Given the description of an element on the screen output the (x, y) to click on. 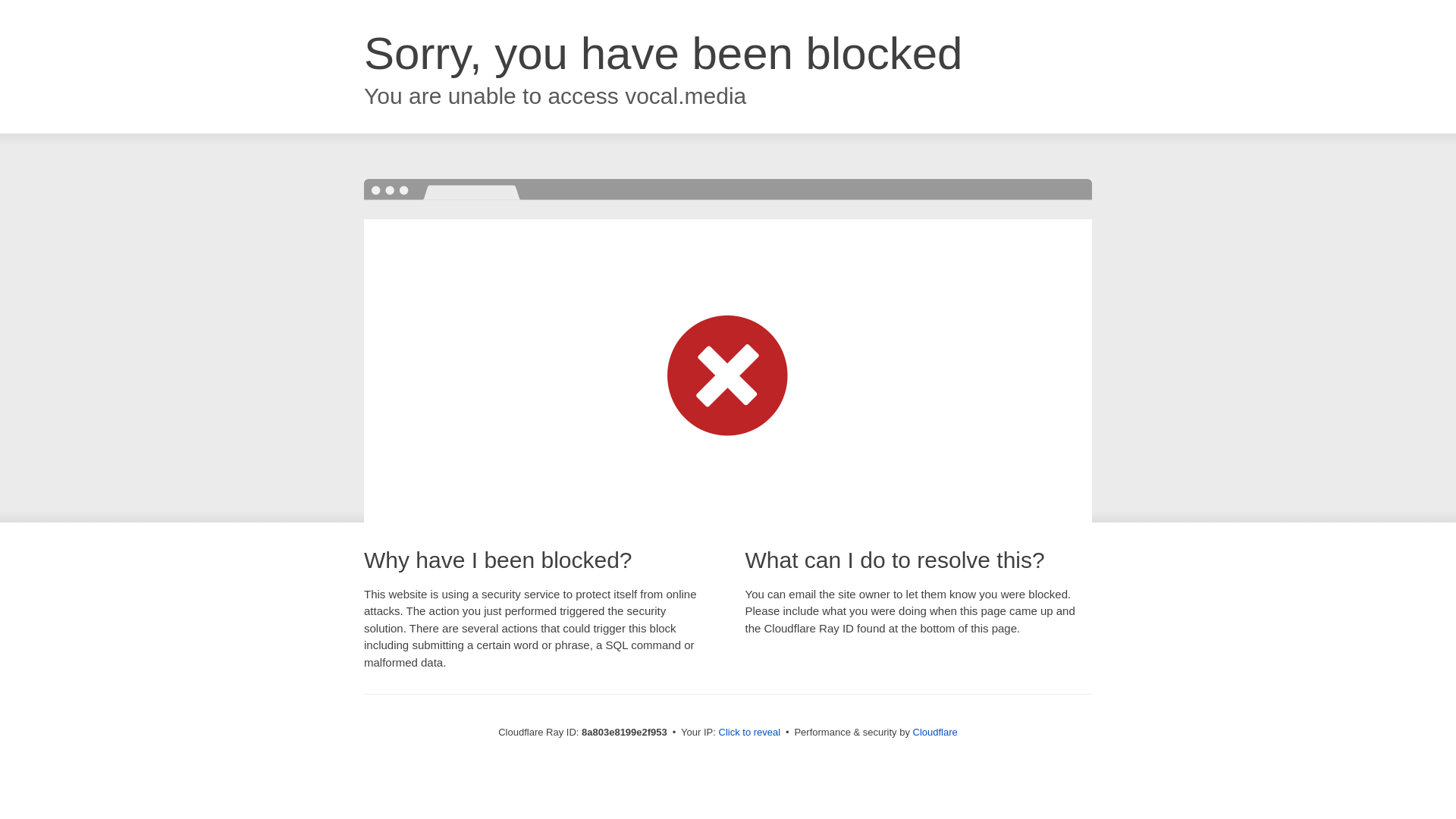
Click to reveal (749, 732)
Cloudflare (935, 731)
